Given the description of an element on the screen output the (x, y) to click on. 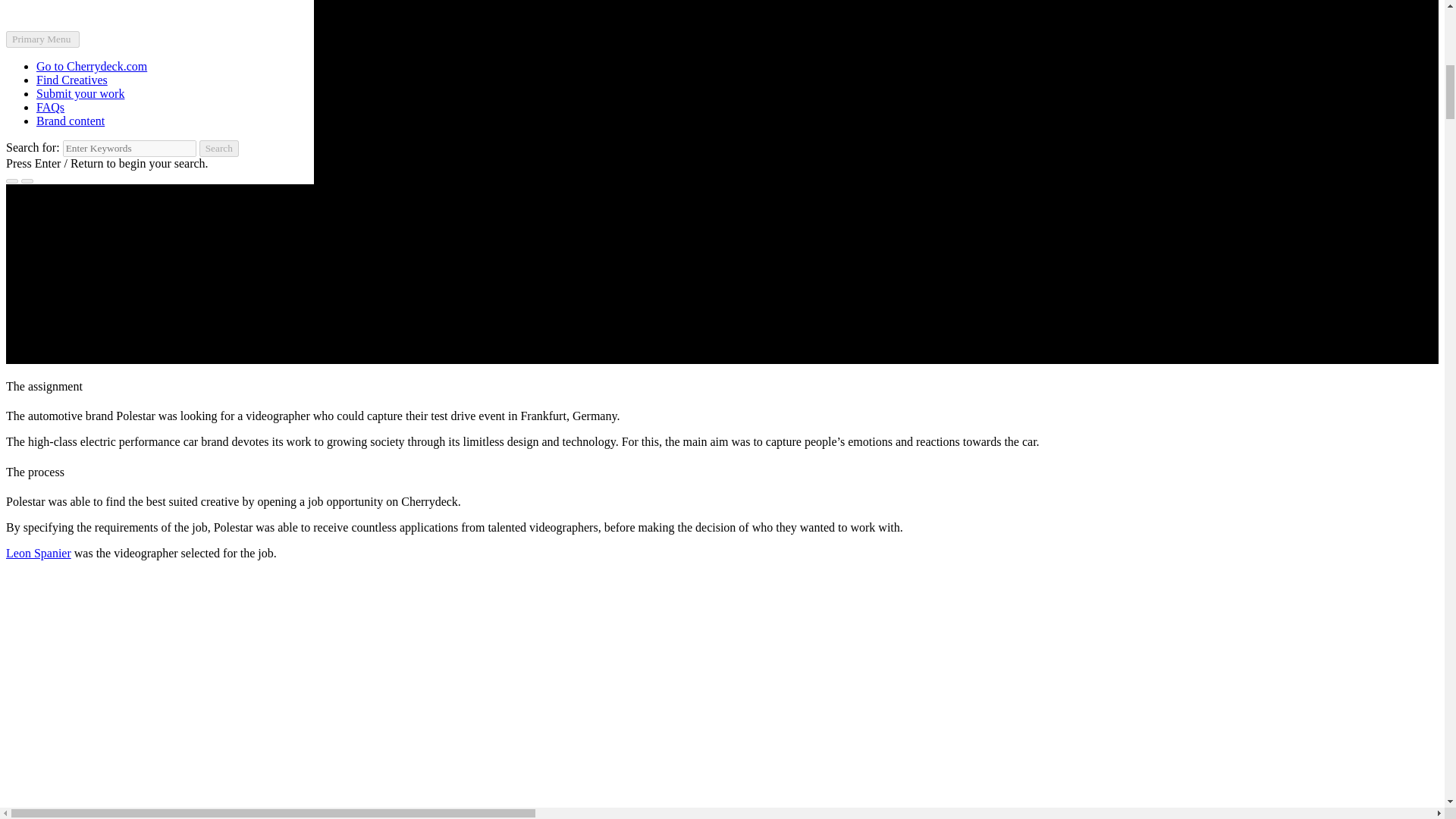
Leon Spanier (38, 553)
